Given the description of an element on the screen output the (x, y) to click on. 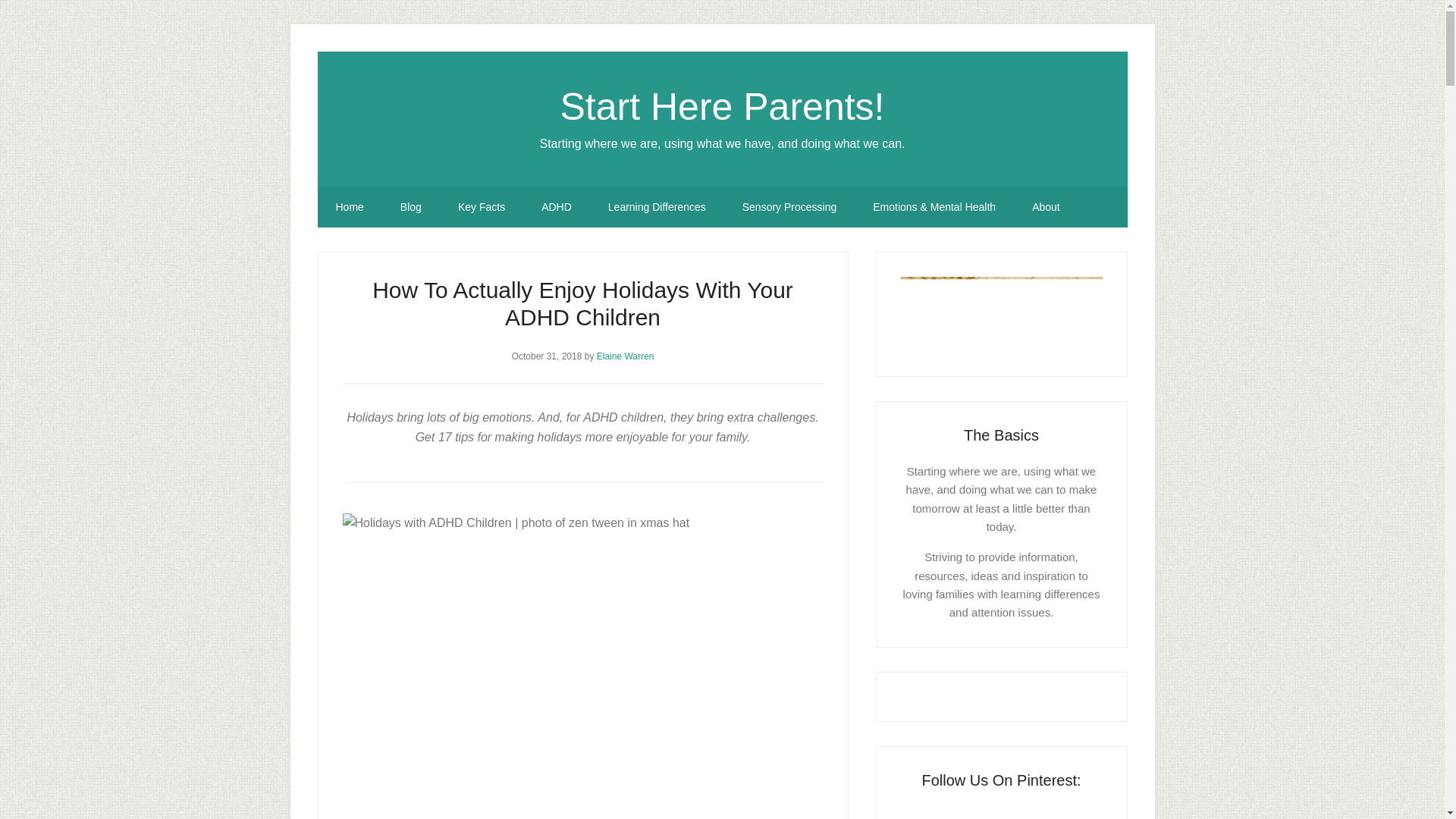
Home (349, 206)
Sensory Processing (789, 206)
Blog (410, 206)
Start Here Parents! (722, 106)
Learning Differences (656, 206)
Key Facts (480, 206)
Elaine Warren (624, 356)
About (1045, 206)
ADHD (555, 206)
